Given the description of an element on the screen output the (x, y) to click on. 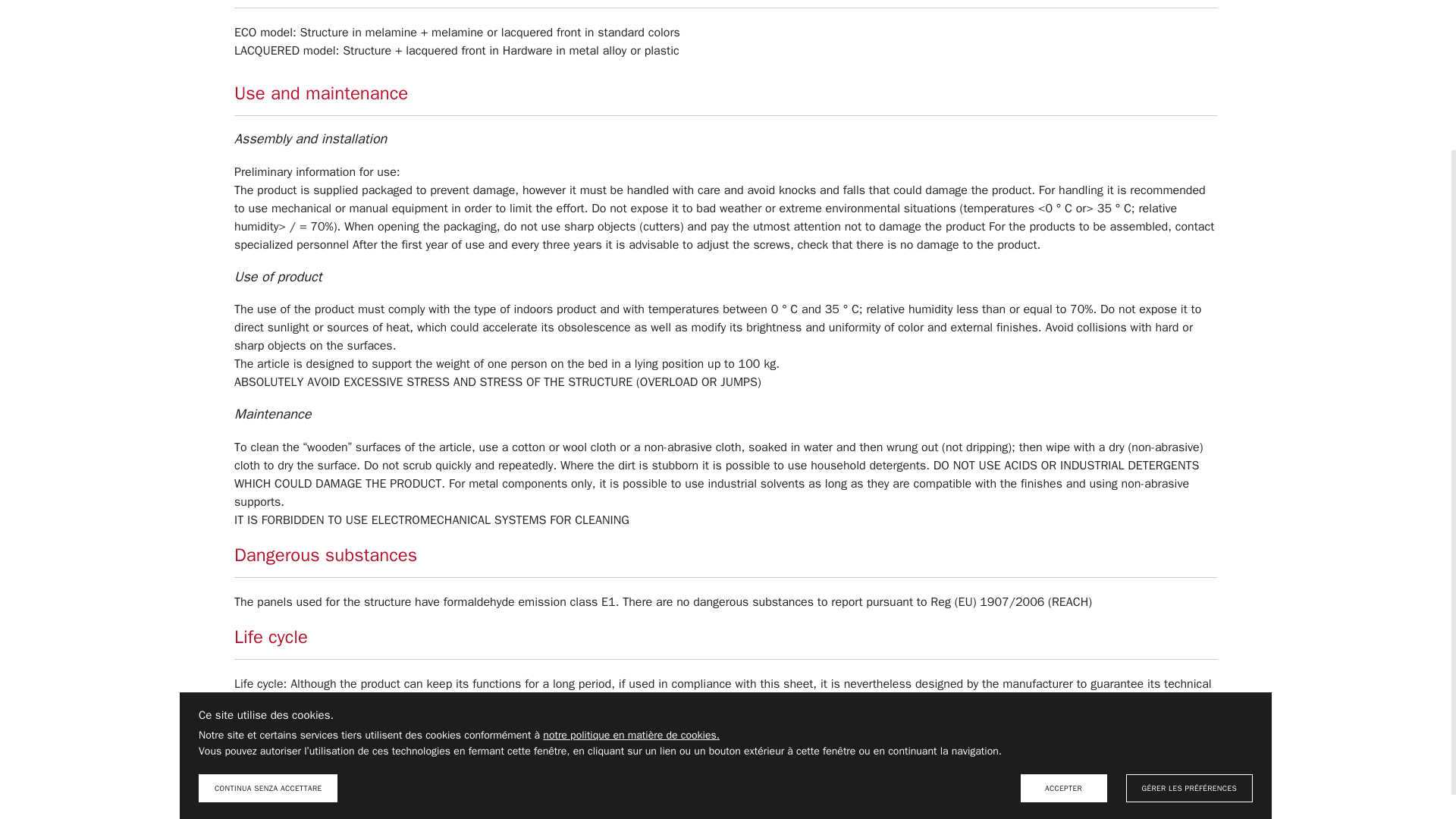
ACCEPTER (1063, 596)
CONTINUA SENZA ACCETTARE (267, 596)
